Given the description of an element on the screen output the (x, y) to click on. 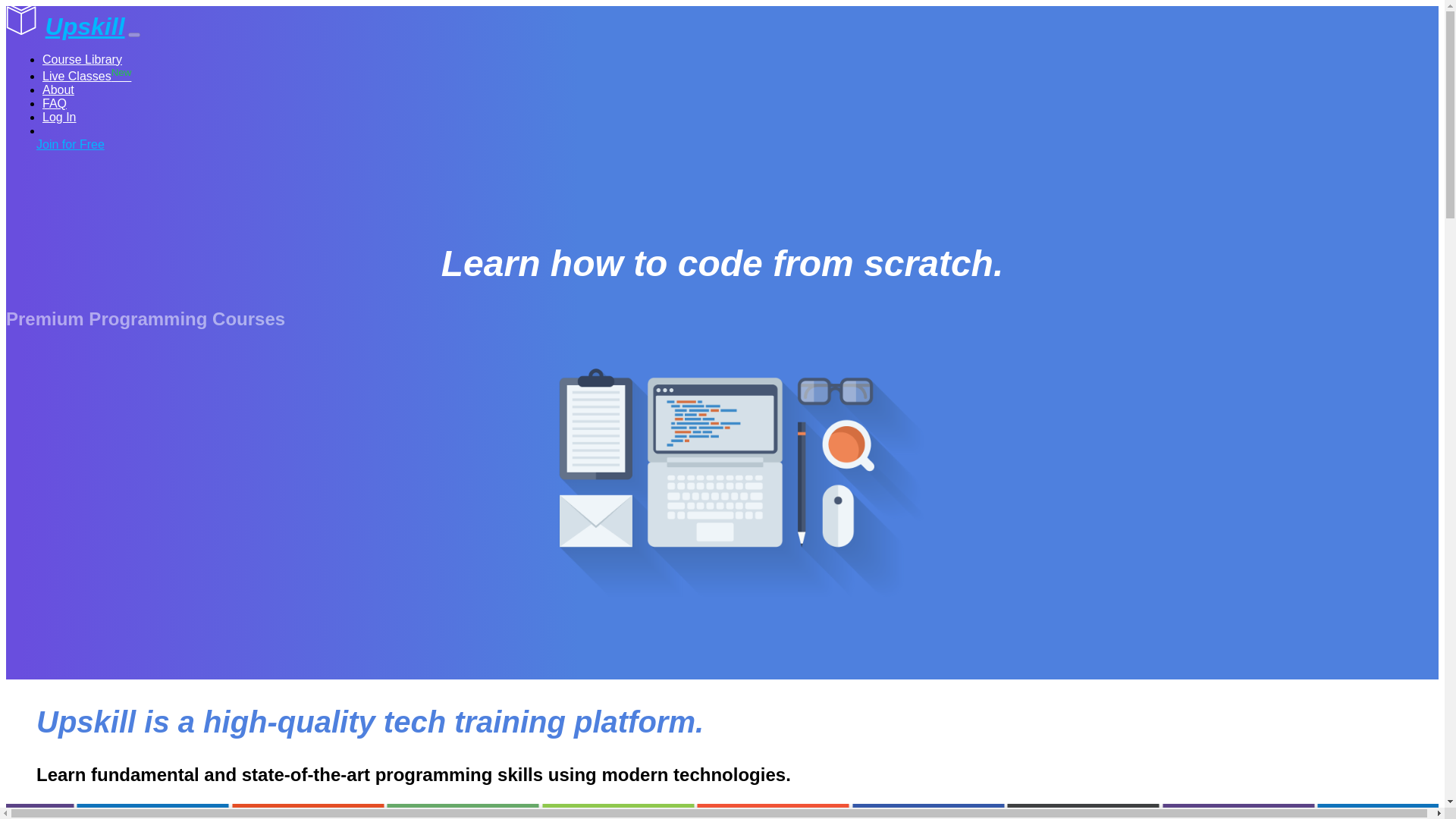
Log In (58, 116)
FAQ (54, 103)
Join for Free (70, 144)
Course Library (82, 59)
Upskill (65, 26)
About (58, 89)
Live ClassesNew (86, 75)
